Given the description of an element on the screen output the (x, y) to click on. 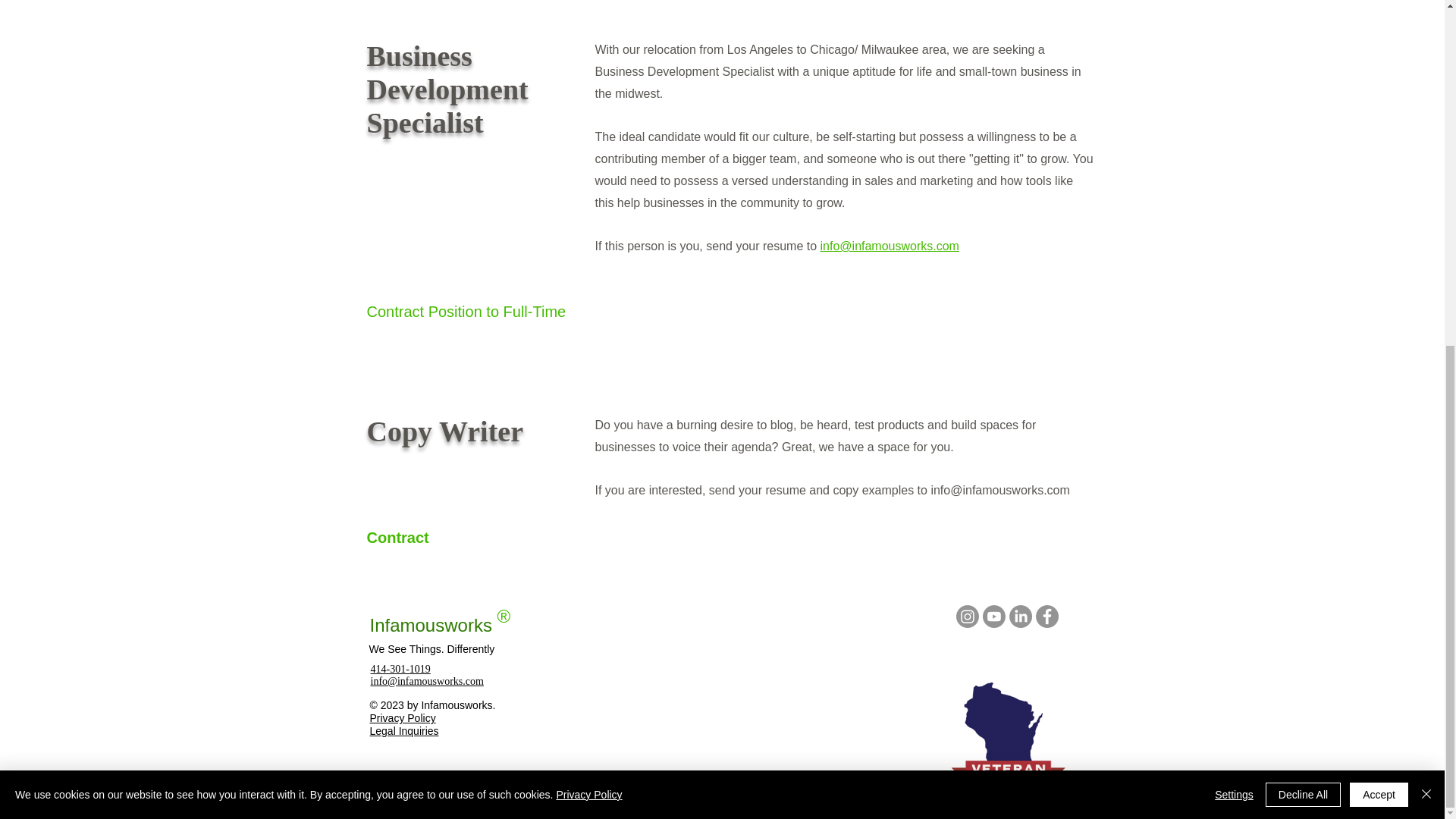
Google Maps (717, 711)
Accept (1378, 201)
We See Things. Differently (431, 648)
Legal Inquiries (404, 731)
Infamousworks (430, 625)
414-301-1019 (399, 668)
Privacy Policy (402, 717)
Decline All (1302, 201)
Privacy Policy (588, 201)
